Given the description of an element on the screen output the (x, y) to click on. 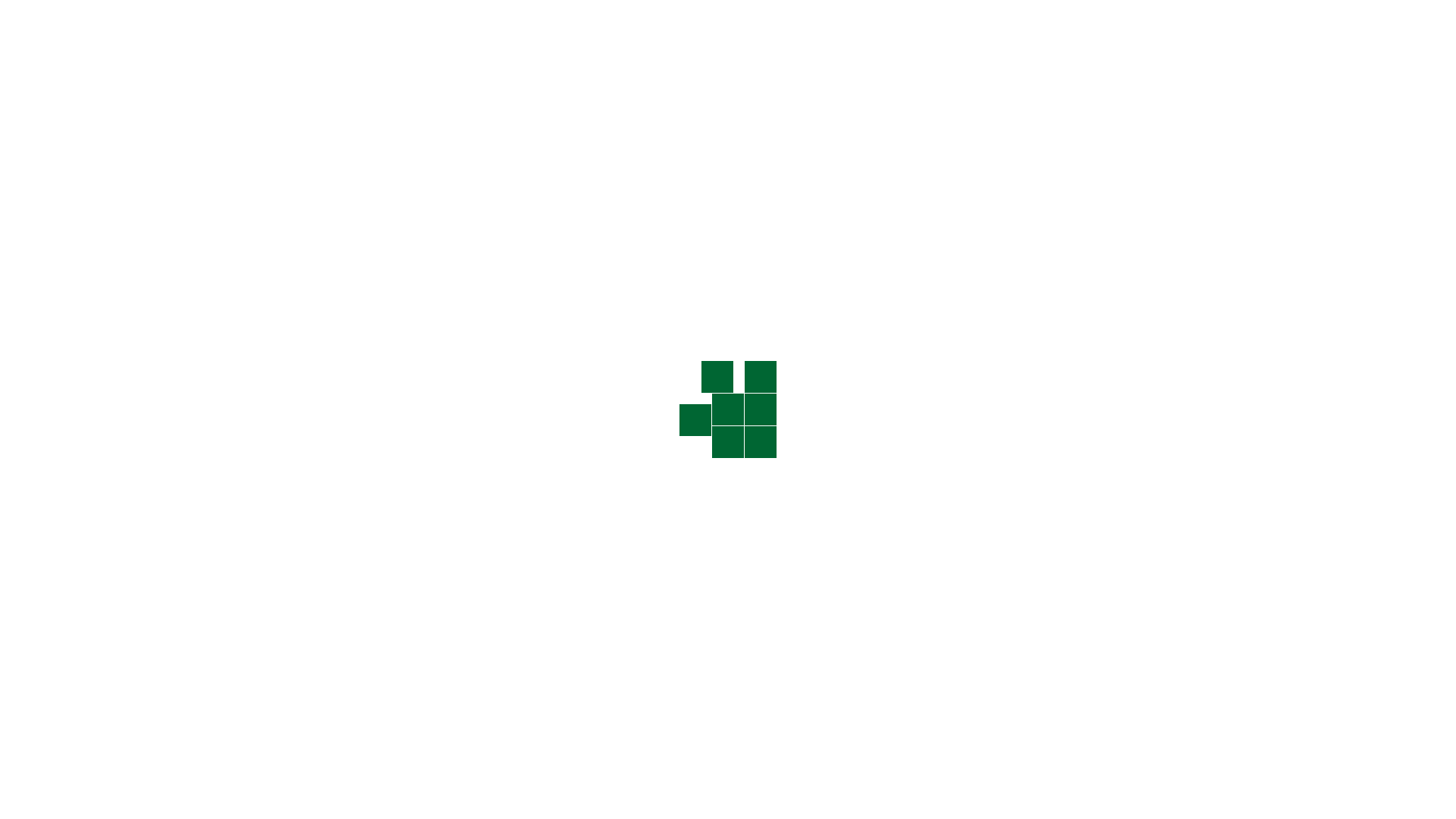
Search Element type: text (1122, 382)
TESTIMONIALS Element type: text (838, 64)
HOME Element type: text (559, 64)
SERVICES Element type: text (691, 64)
ABOUT US Element type: text (621, 64)
CONTACT US Element type: text (981, 64)
BLOGS Element type: text (912, 64)
 08 8284 8333 Element type: text (938, 23)
What safety precautions should be taken during tree removal? Element type: text (1041, 501)
How to Choose the Right Tree Removal Company in Adelaide? Element type: text (1041, 671)
GALLERY Element type: text (758, 64)
